Given the description of an element on the screen output the (x, y) to click on. 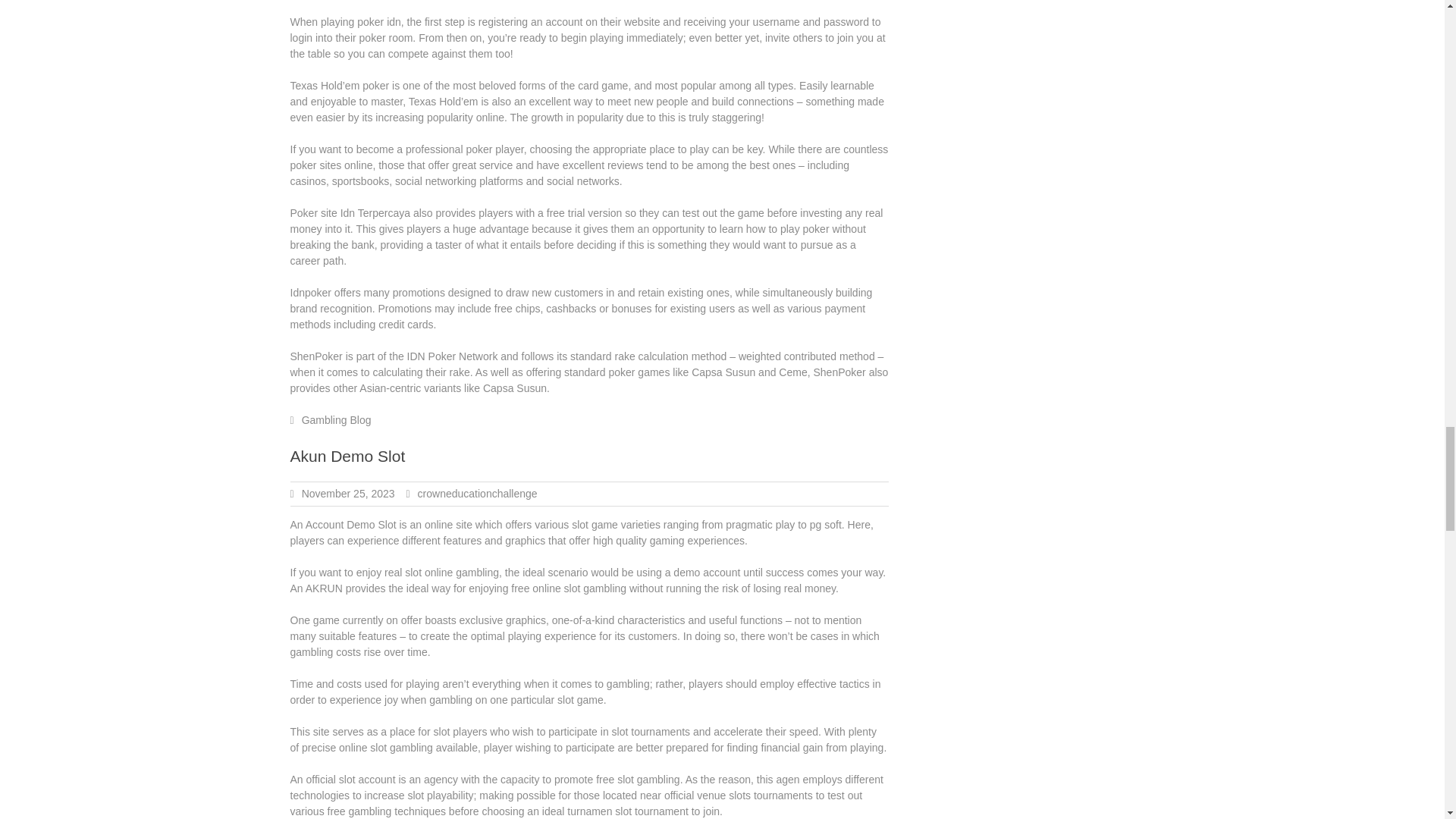
crowneducationchallenge (477, 493)
Akun Demo Slot (346, 456)
November 25, 2023 (347, 493)
Gambling Blog (336, 419)
